Given the description of an element on the screen output the (x, y) to click on. 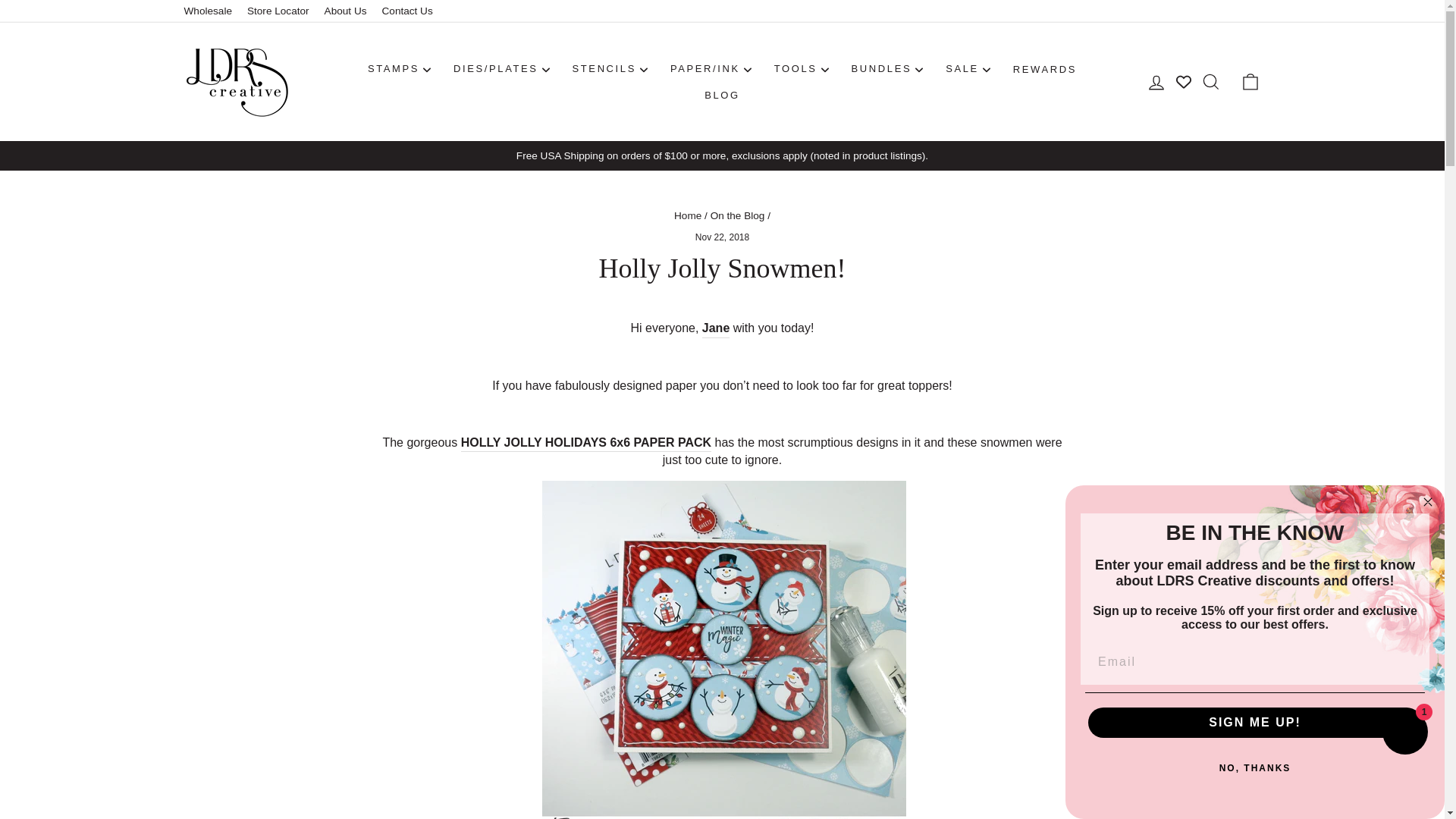
Shopify online store chat (1404, 733)
Back to the frontpage (687, 215)
